Given the description of an element on the screen output the (x, y) to click on. 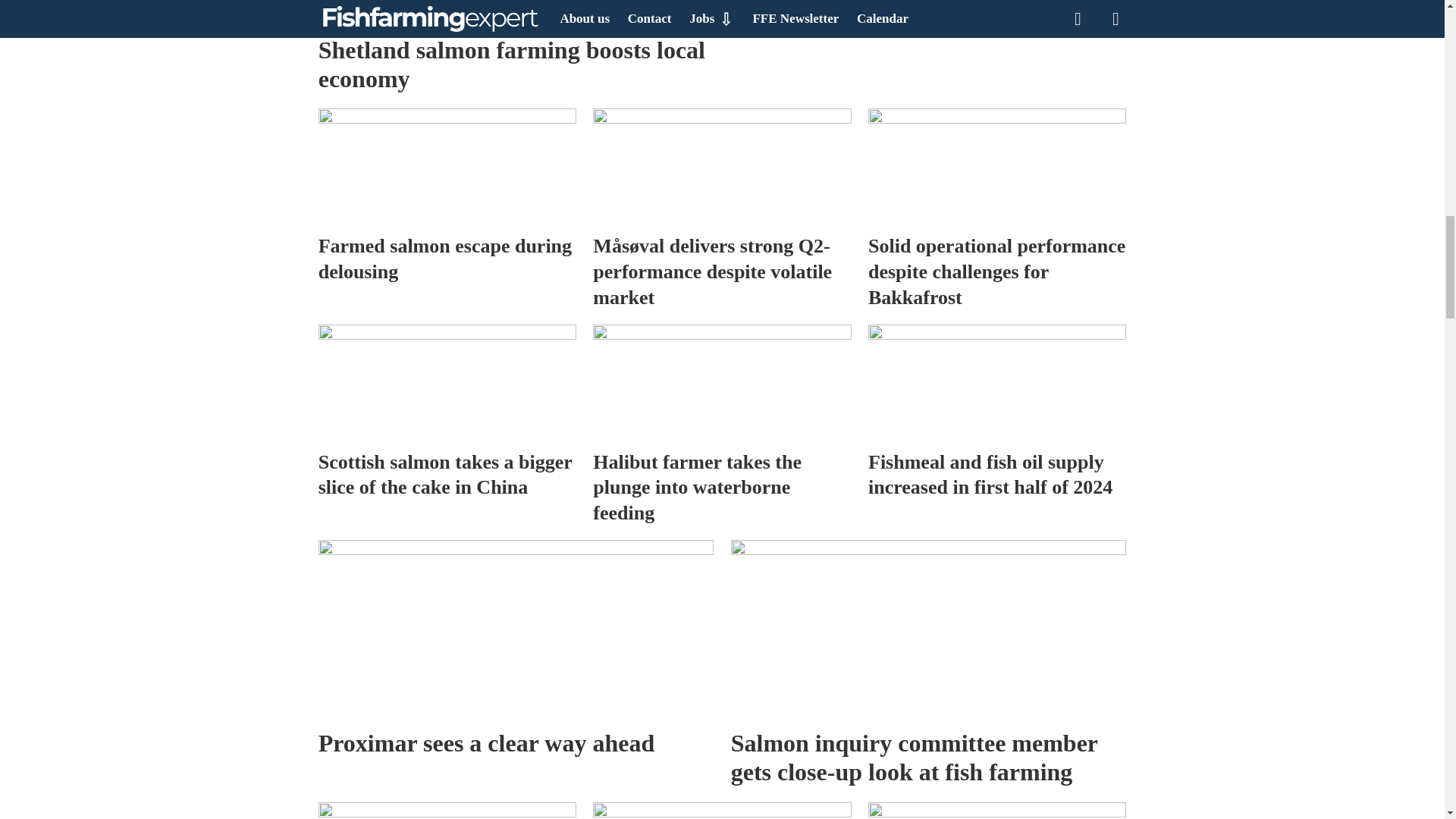
Lowest price of the year for Norwegian salmon (447, 810)
Proximar sees a clear way ahead (516, 629)
Halibut farmer takes the plunge into waterborne feeding (721, 382)
Scottish salmon takes a bigger slice of the cake in China (447, 382)
Salmon prices continue to fall (928, 20)
Extra funding needed for land-based salmon farm in China (721, 810)
Fishmeal and fish oil supply increased in first half of 2024 (996, 382)
